Given the description of an element on the screen output the (x, y) to click on. 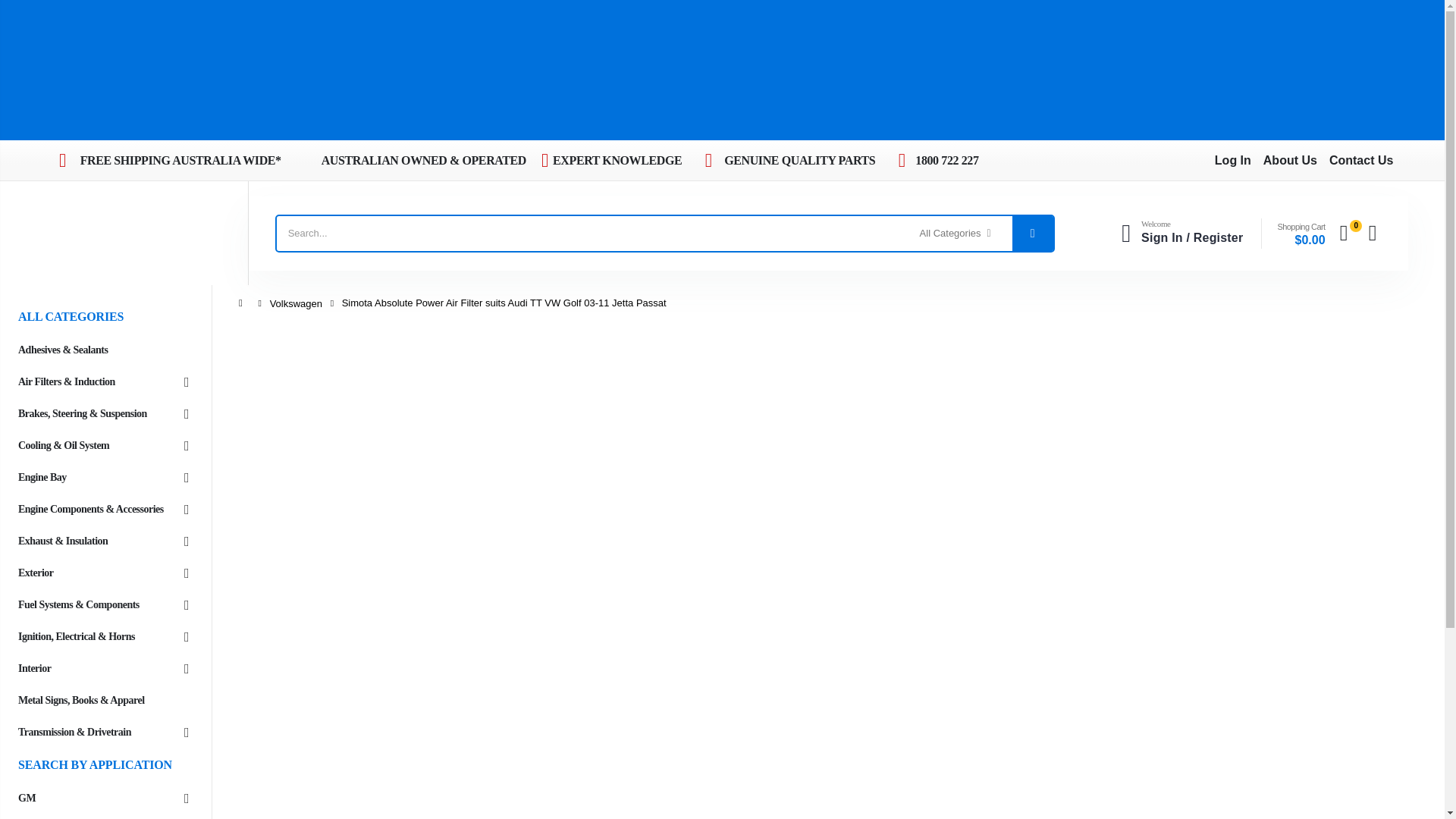
My account (1177, 233)
Contact Us (1361, 160)
All Categories (954, 233)
Log In (1232, 160)
About Us (1290, 160)
All Categories (954, 233)
